Given the description of an element on the screen output the (x, y) to click on. 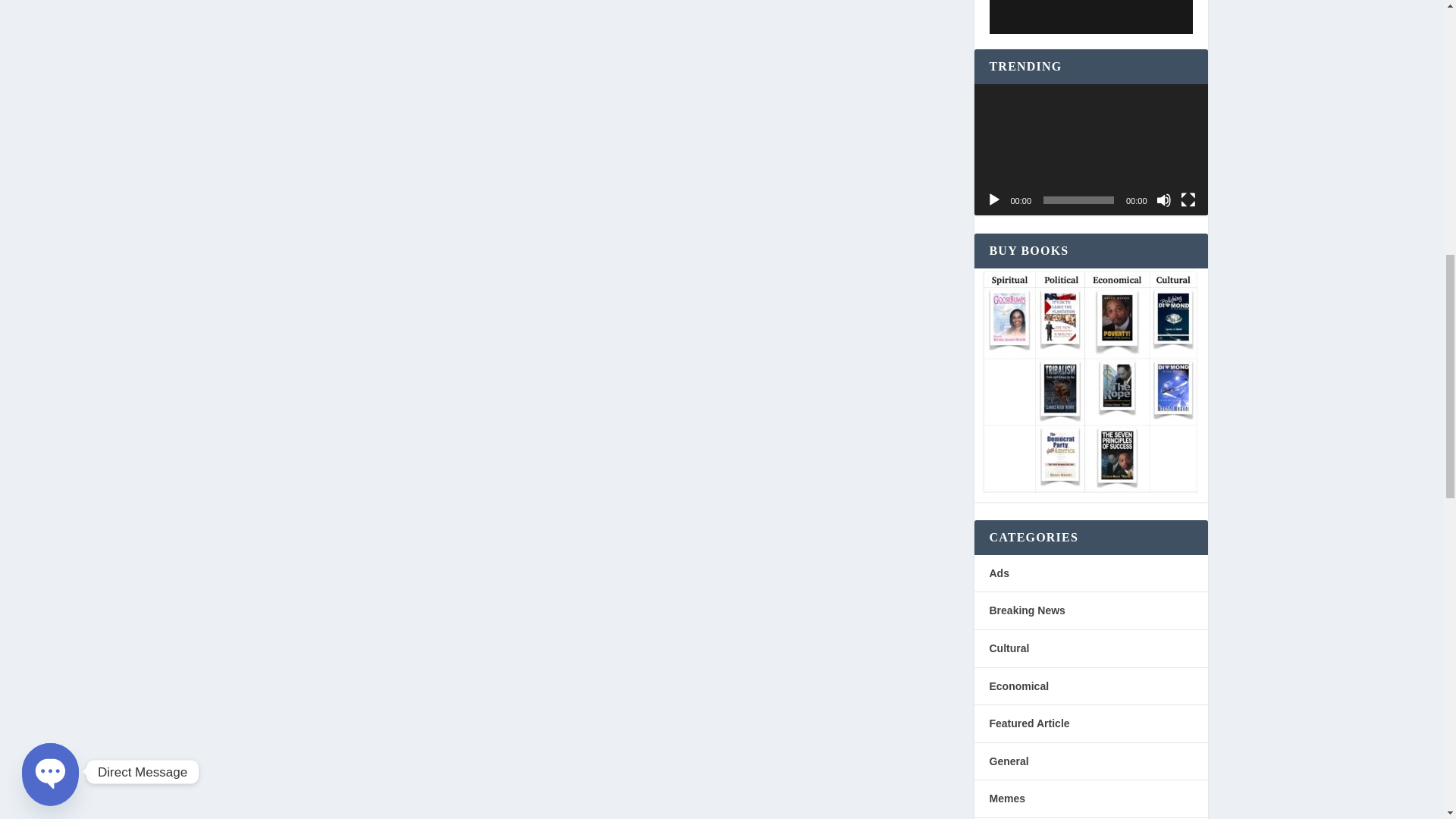
Play (993, 200)
Fullscreen (1187, 200)
Buy Books (1087, 382)
Mute (1163, 200)
